Given the description of an element on the screen output the (x, y) to click on. 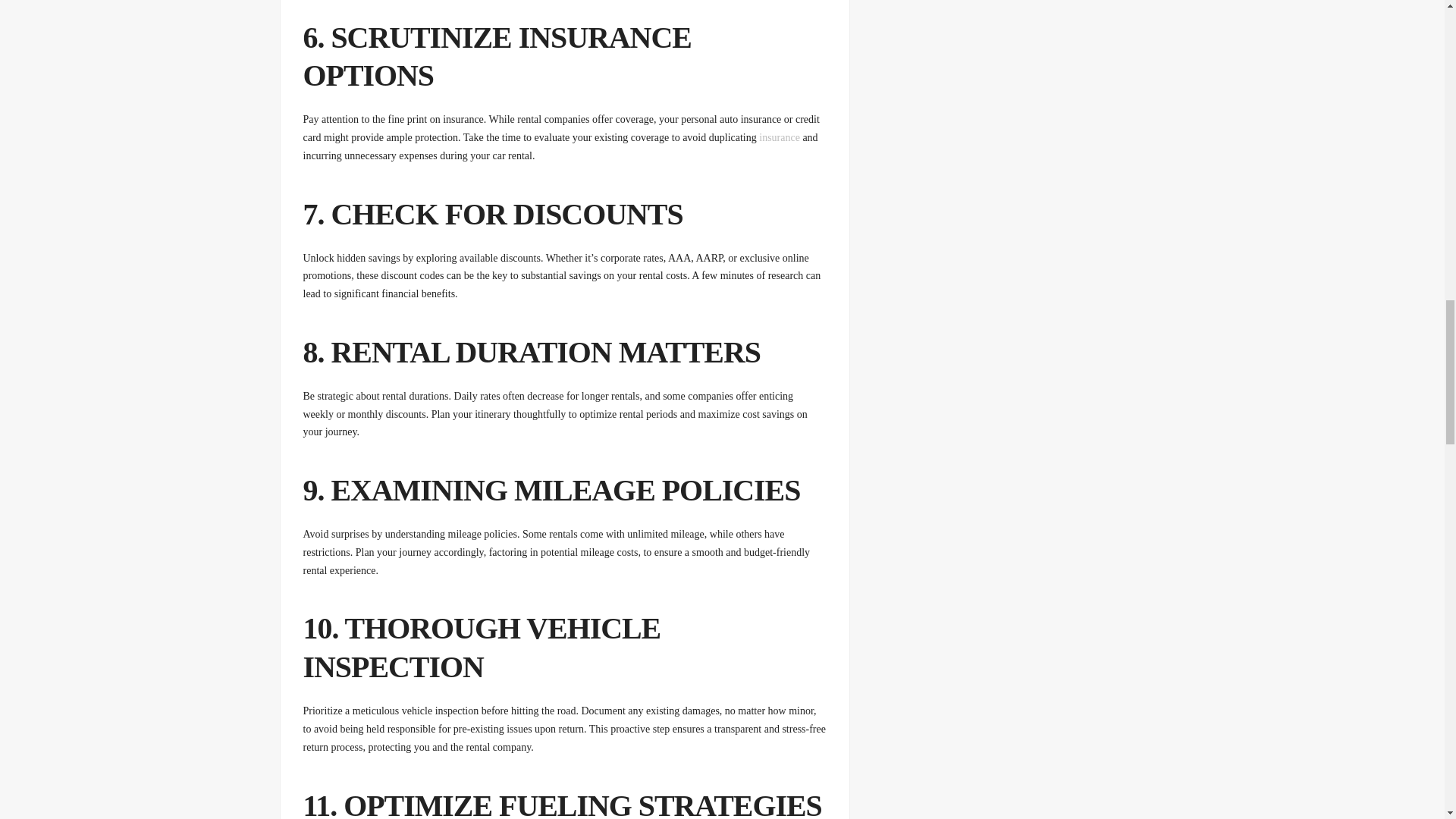
insurance (778, 137)
